Given the description of an element on the screen output the (x, y) to click on. 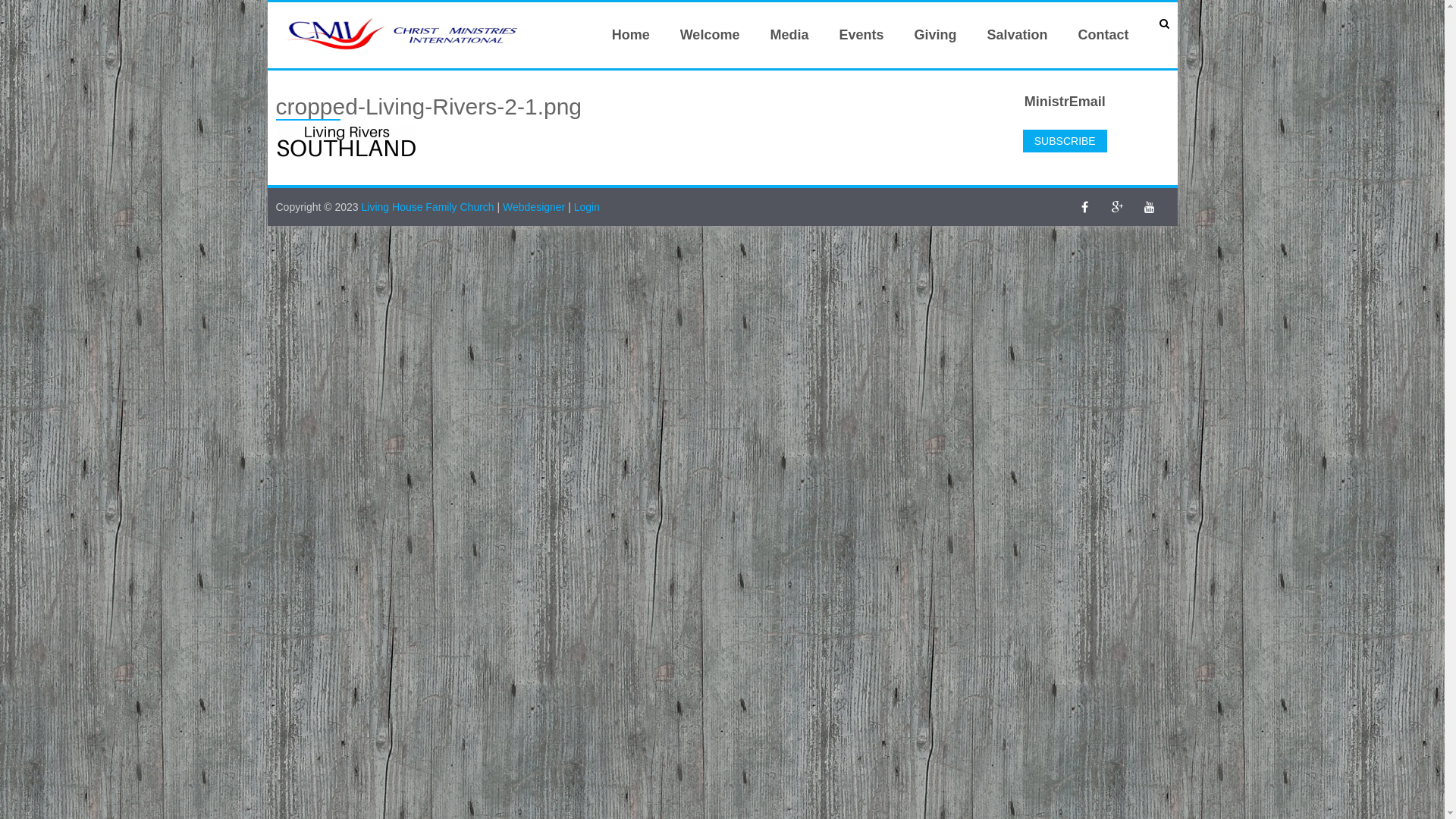
Webdesigner Element type: text (533, 206)
Events Element type: text (860, 35)
Salvation Element type: text (1016, 35)
Home Element type: text (630, 35)
SUBSCRIBE Element type: text (1064, 140)
Search Element type: text (33, 12)
Welcome Element type: text (710, 35)
Contact Element type: text (1103, 35)
Giving Element type: text (934, 35)
Living House Family Church Element type: text (429, 206)
Media Element type: text (788, 35)
Login Element type: text (586, 206)
